Given the description of an element on the screen output the (x, y) to click on. 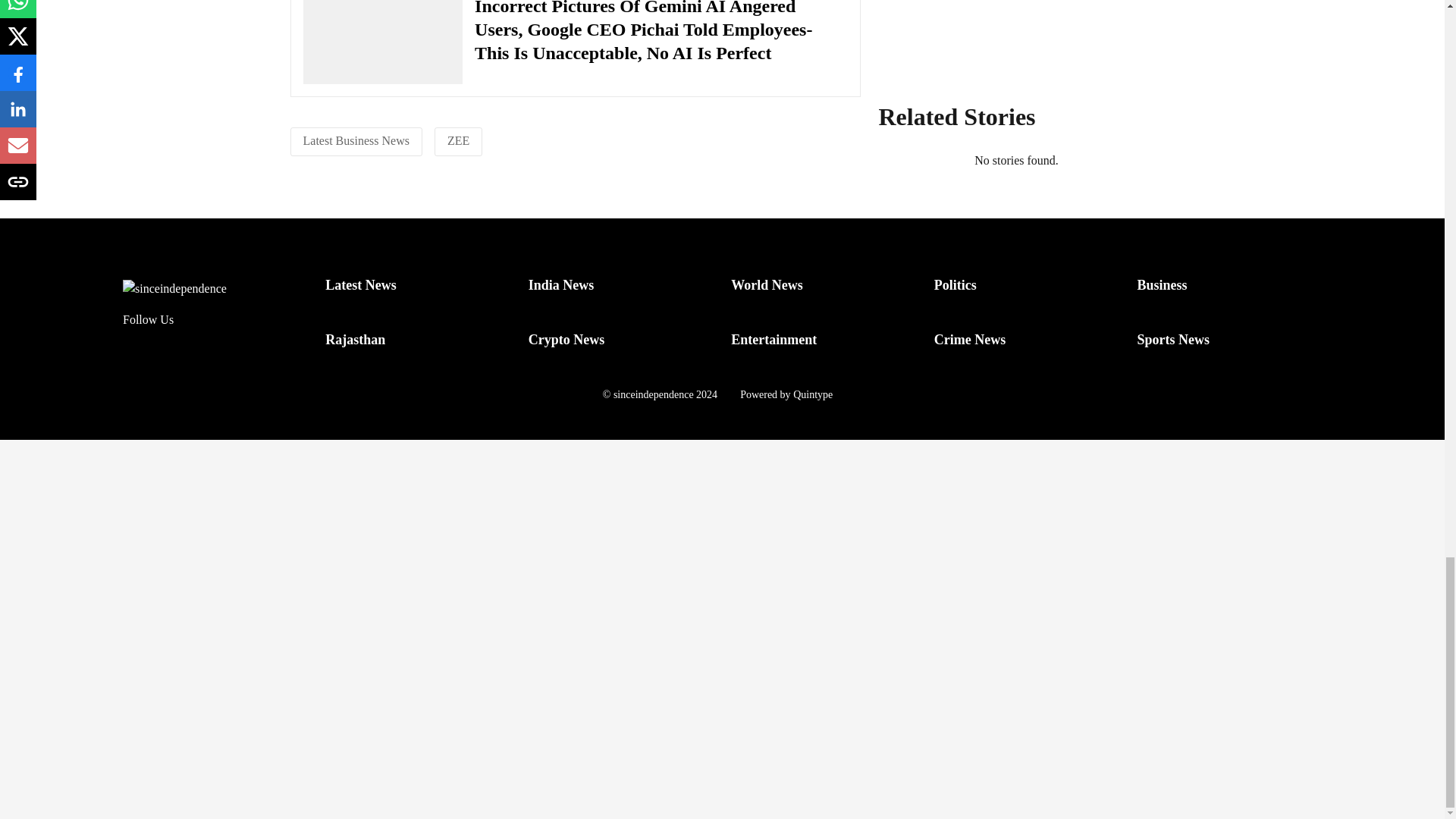
Rajasthan (354, 339)
Entertainment (773, 339)
Latest Business News (355, 140)
World News (766, 284)
Crypto News (566, 339)
India News (561, 284)
Business (1161, 284)
Crime News (970, 339)
Politics (955, 284)
